Given the description of an element on the screen output the (x, y) to click on. 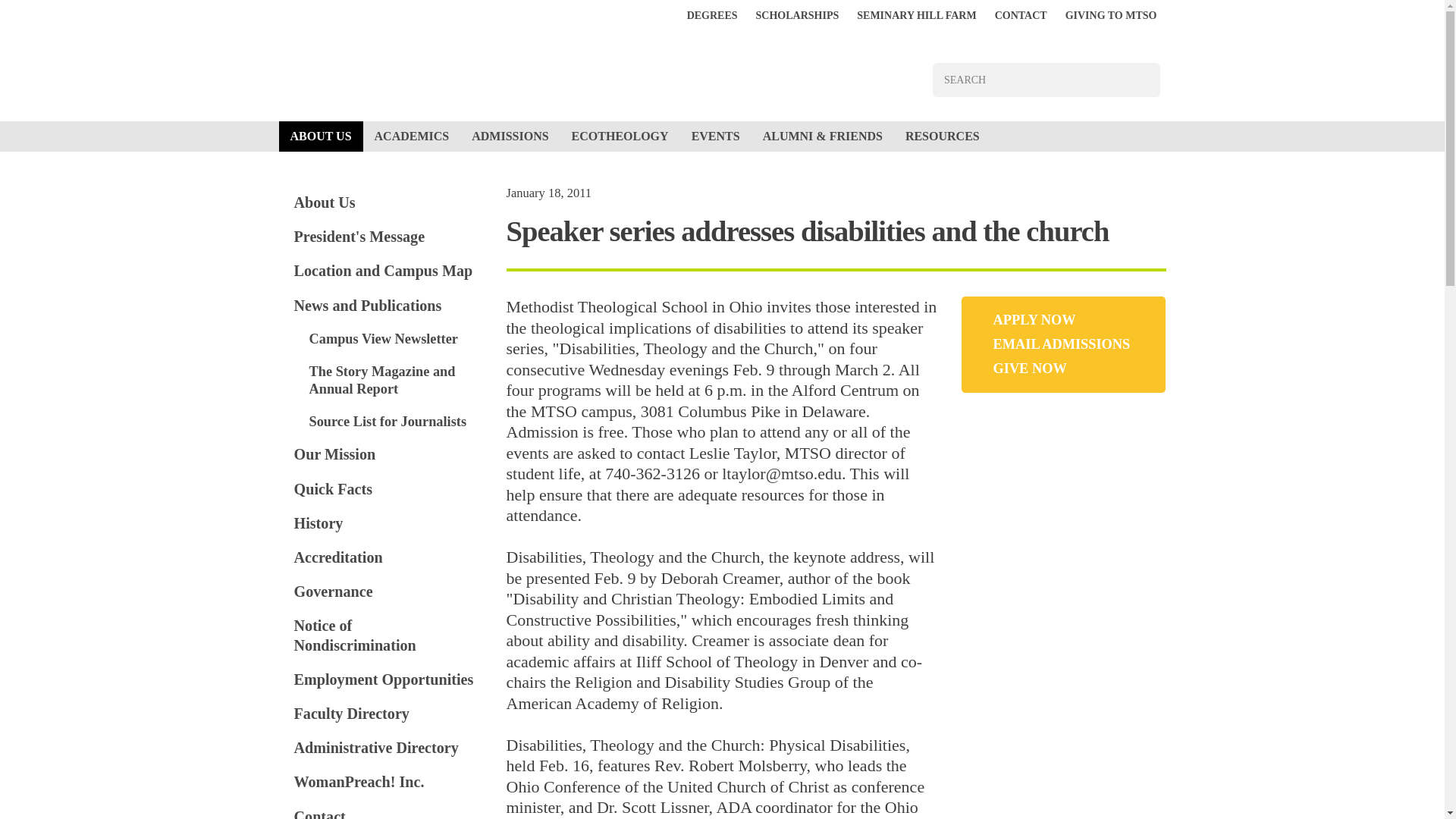
ACADEMICS (411, 136)
SEARCH (1142, 80)
ABOUT US (320, 136)
MTSO (506, 66)
ADMISSIONS (509, 136)
MTSO (506, 66)
